Given the description of an element on the screen output the (x, y) to click on. 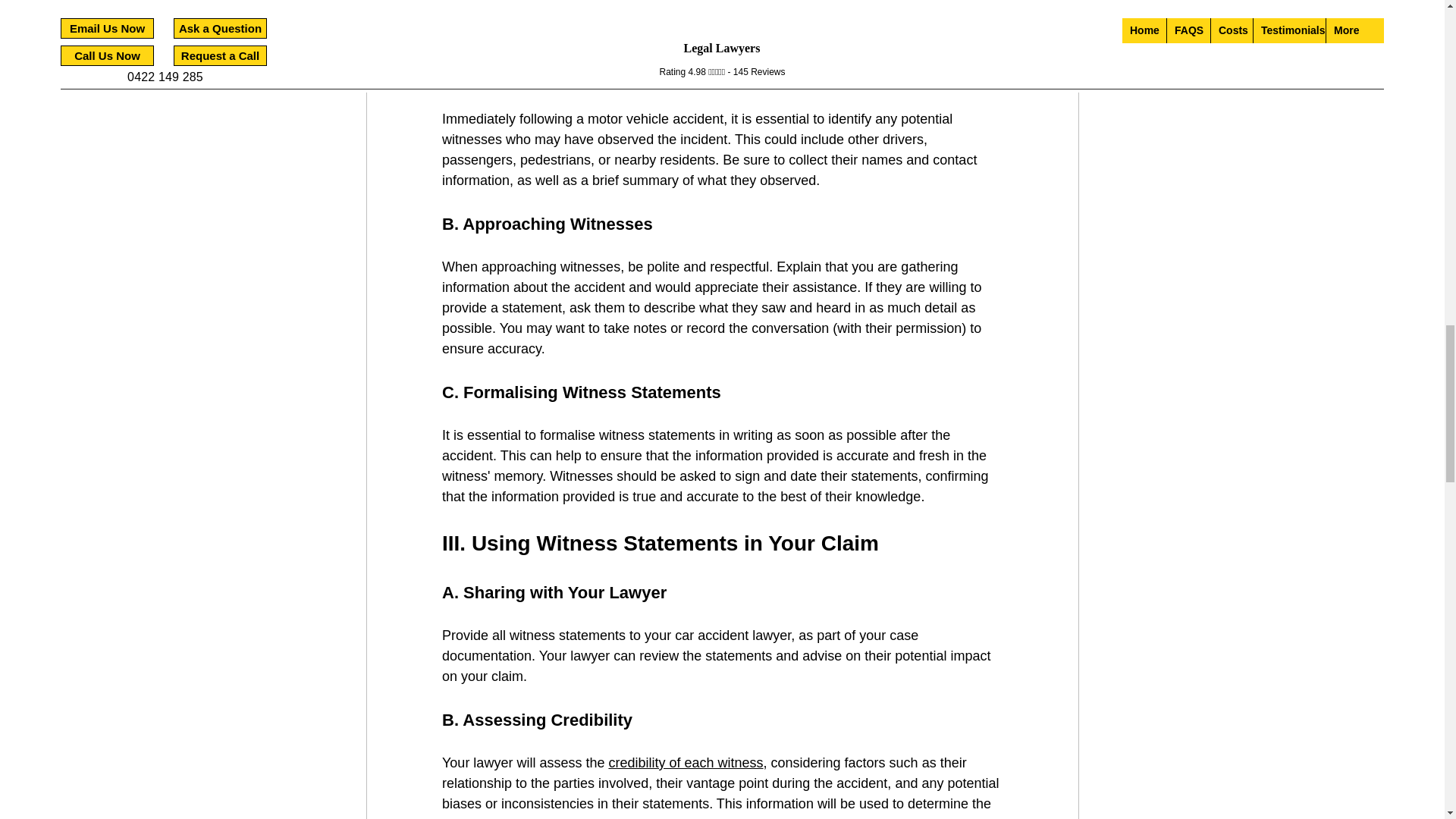
credibility of each witness (685, 762)
